Given the description of an element on the screen output the (x, y) to click on. 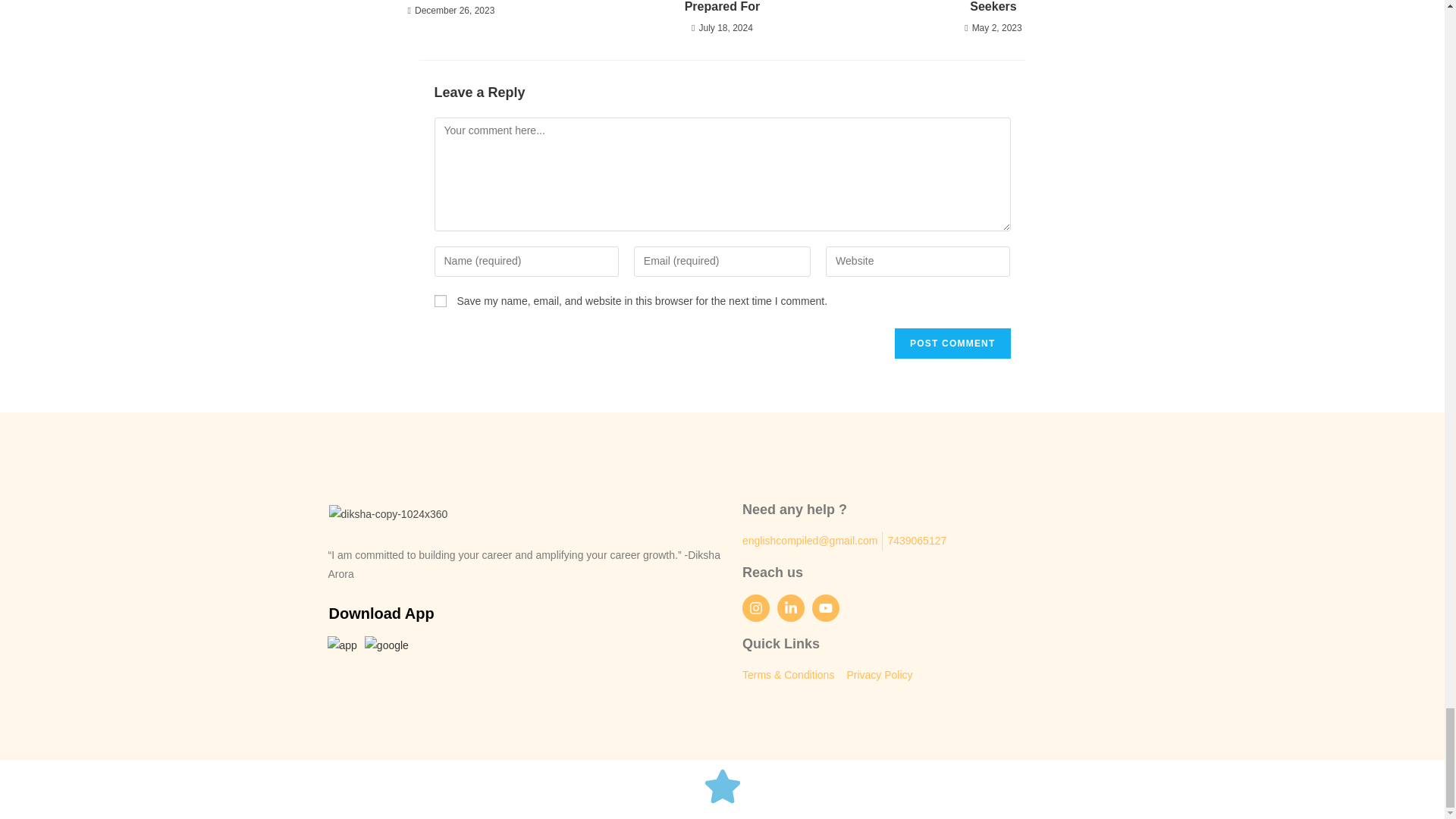
Post Comment (952, 343)
Best LinkedIn Profile Tips For Job Seekers (992, 7)
google (387, 652)
Post Comment (952, 343)
app (341, 652)
7 Interview Questions You Might Not Be Prepared For (721, 7)
yes (439, 300)
Privacy Policy (878, 674)
7439065127 (916, 540)
